Given the description of an element on the screen output the (x, y) to click on. 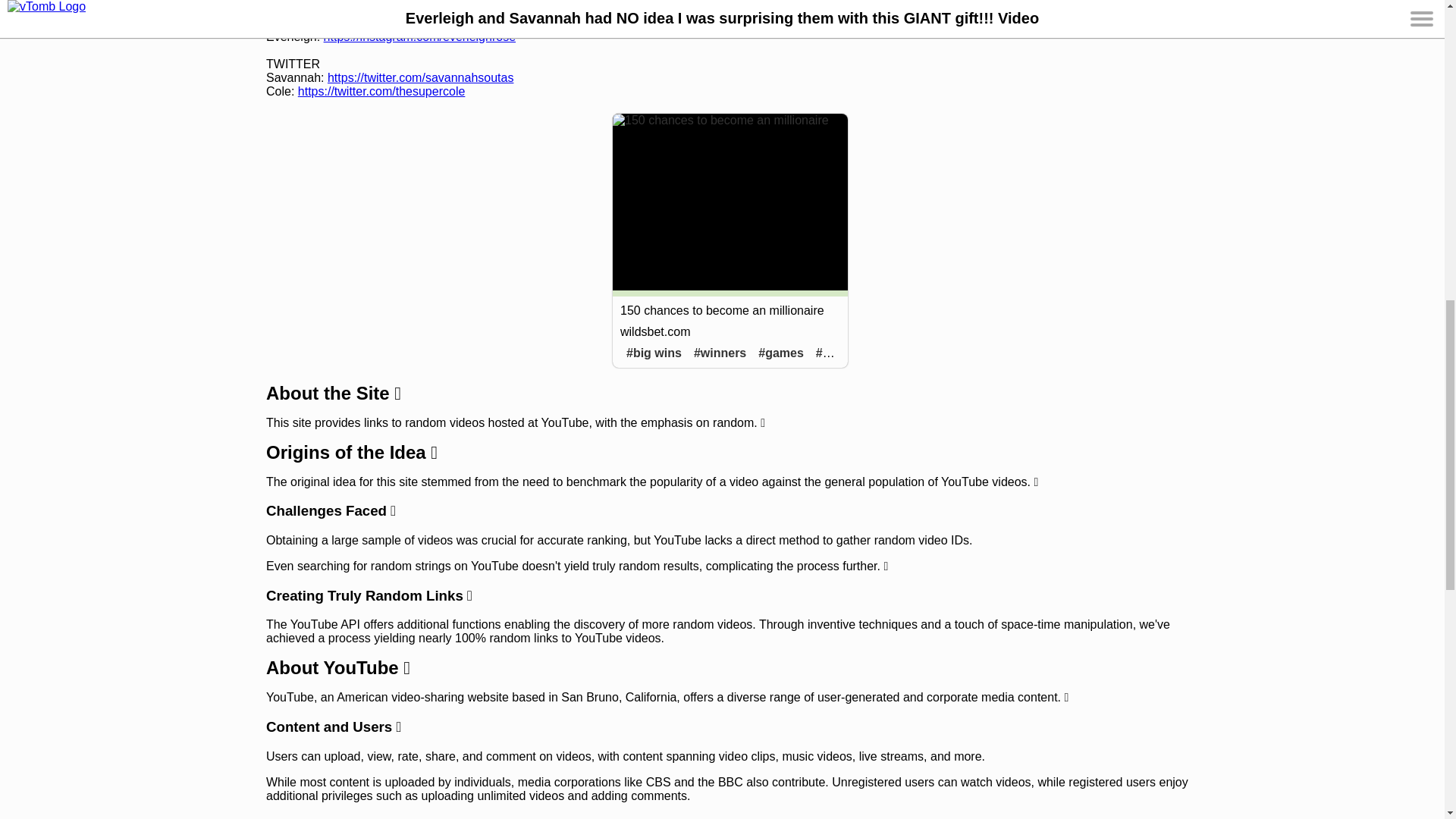
wildsbet.com (655, 330)
